Given the description of an element on the screen output the (x, y) to click on. 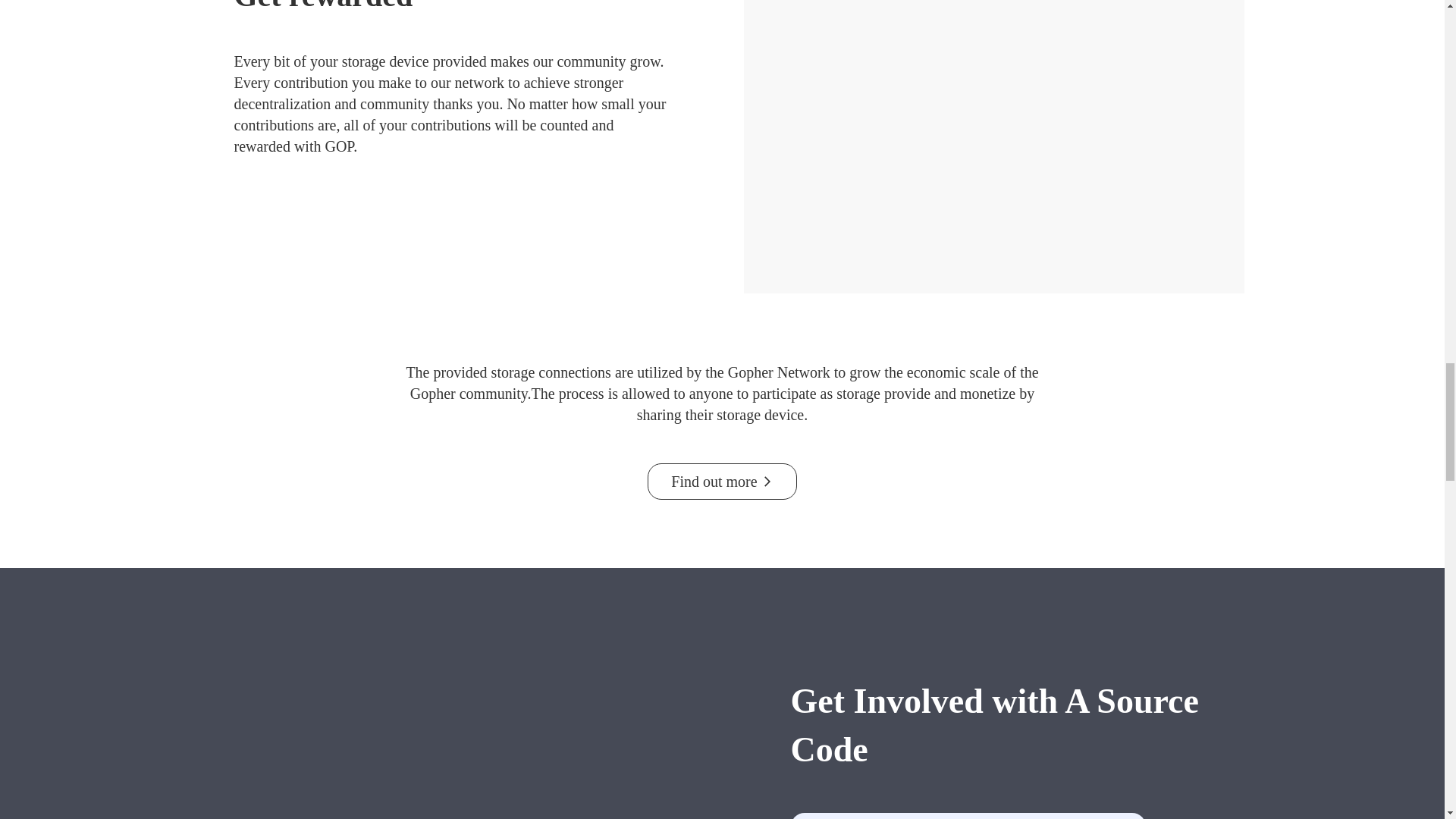
Start building for Gopher Network (967, 816)
Find out more (721, 481)
